Given the description of an element on the screen output the (x, y) to click on. 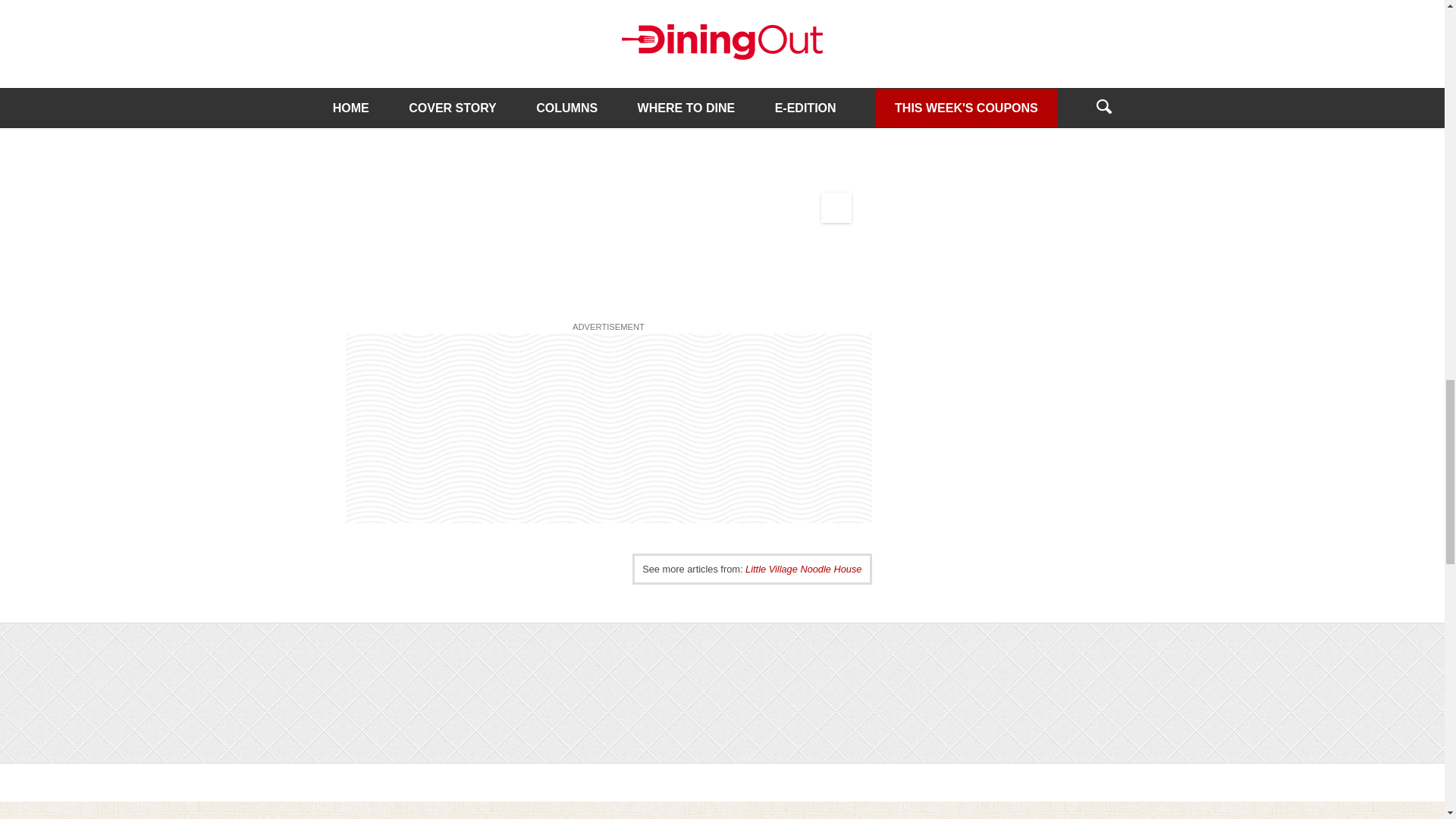
Little Village Noodle House (803, 568)
Toggle fullscreen view (835, 71)
Your Location (835, 207)
littlevillagehawaii.com (401, 15)
